Given the description of an element on the screen output the (x, y) to click on. 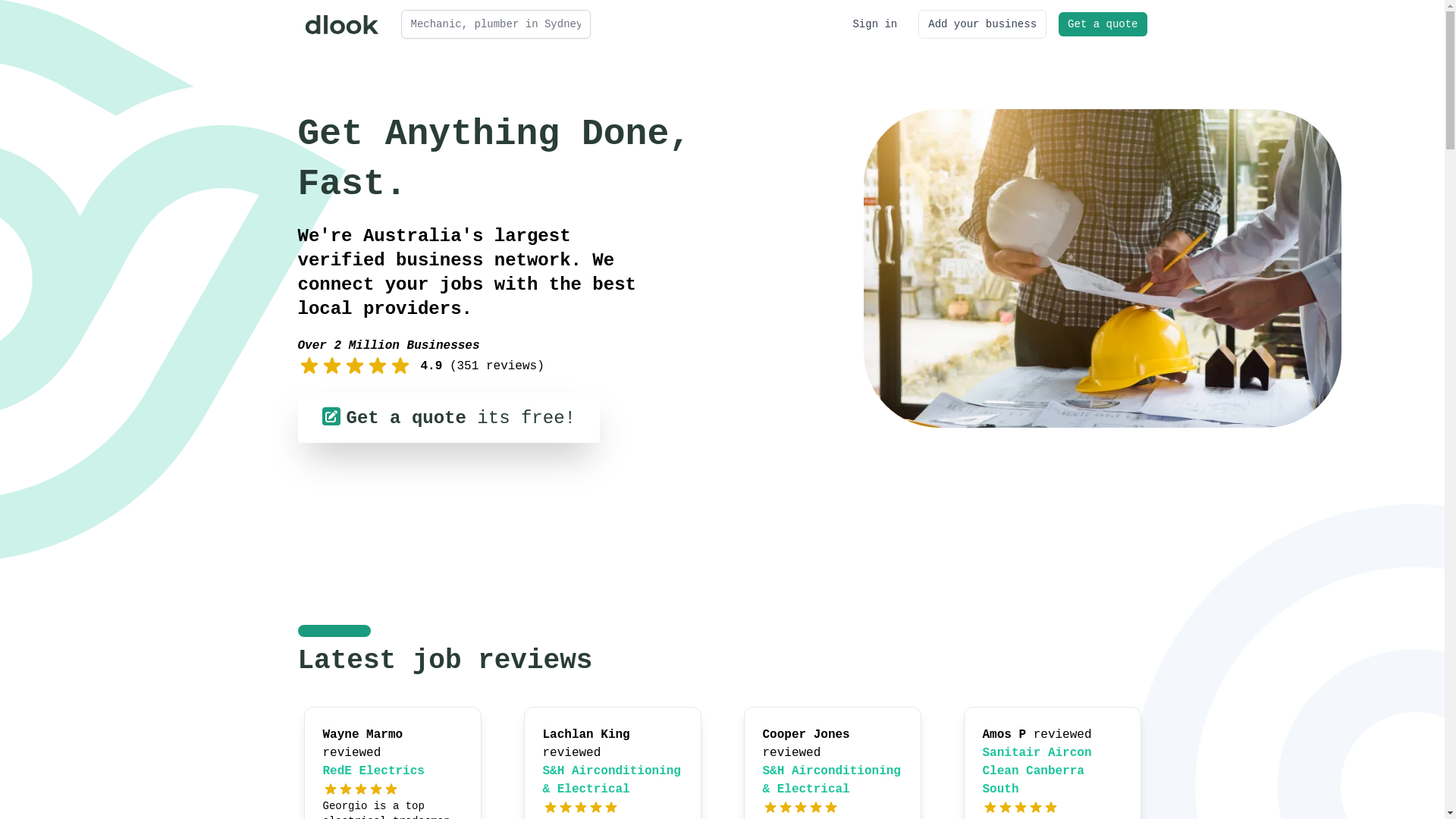
S&H Airconditioning & Electrical Element type: text (831, 780)
Sanitair Aircon Clean Canberra South Element type: text (1037, 771)
Get a quote Element type: text (1102, 24)
S&H Airconditioning & Electrical Element type: text (611, 780)
Sign in Element type: text (874, 23)
Add your business Element type: text (982, 23)
RedE Electrics Element type: text (373, 771)
Get a quote its free! Element type: text (448, 417)
